Given the description of an element on the screen output the (x, y) to click on. 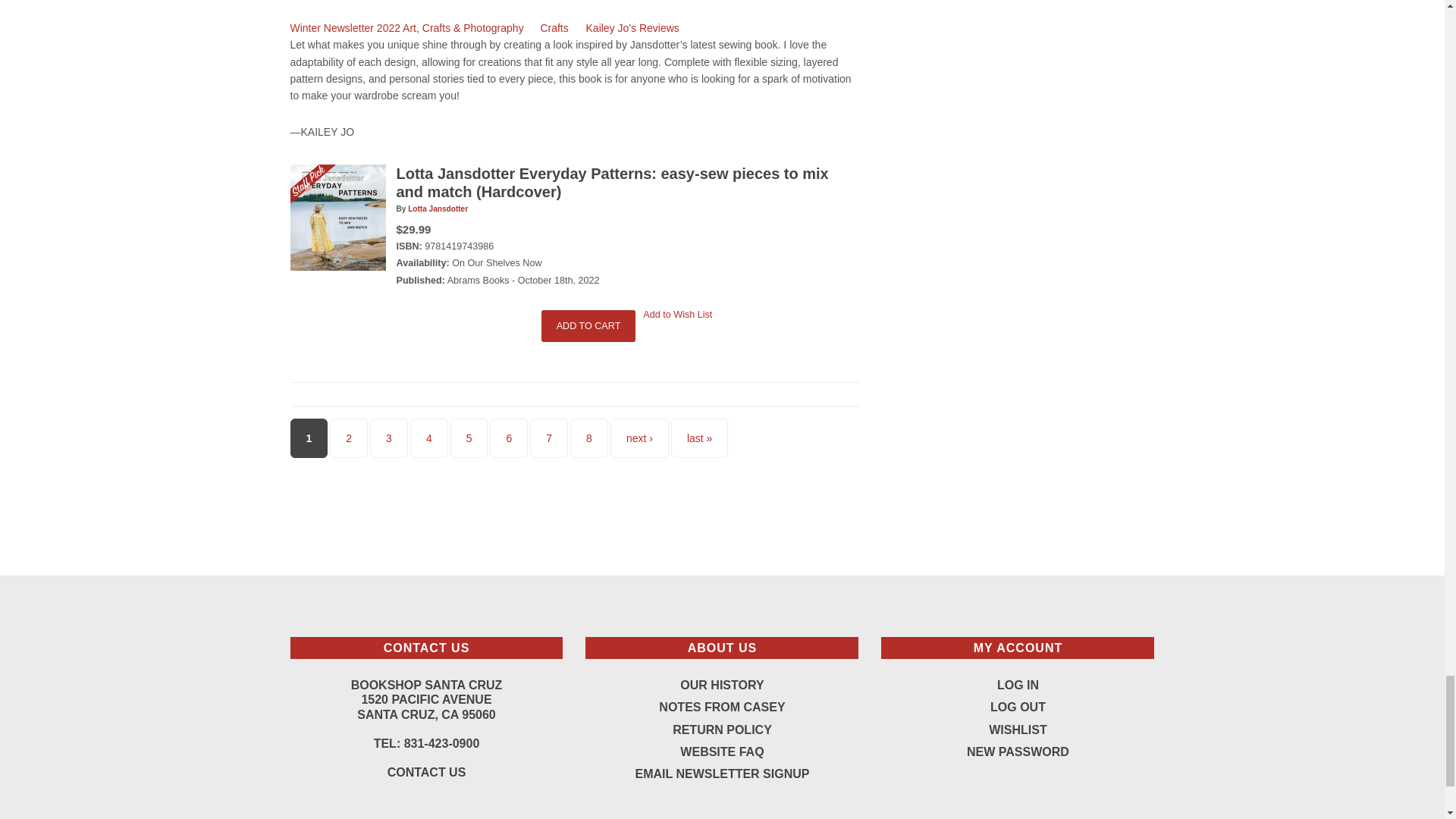
Add to Cart (588, 326)
